Given the description of an element on the screen output the (x, y) to click on. 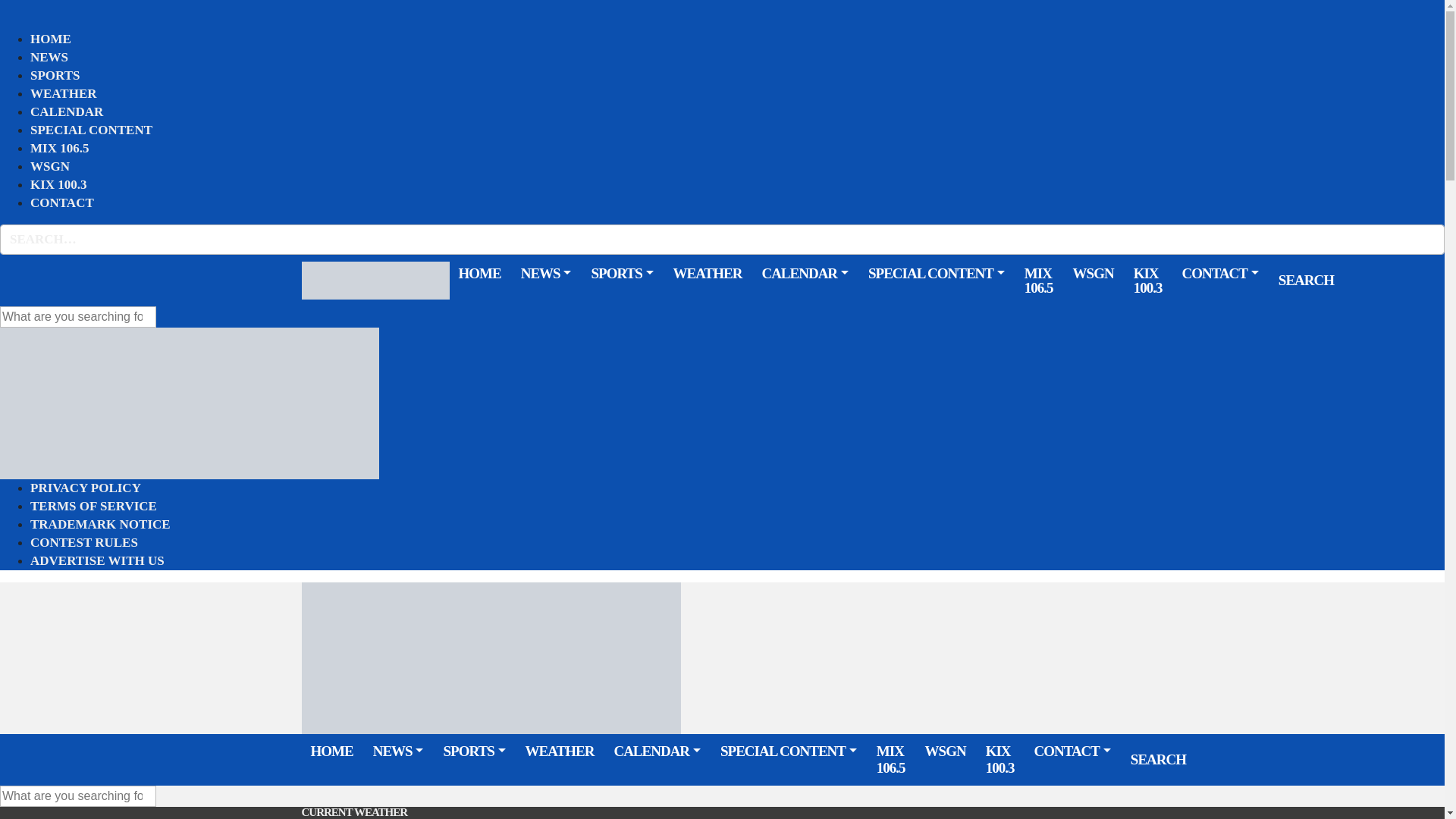
MIX 106.5 (59, 148)
SPORTS (55, 75)
NEWS (49, 56)
CALENDAR (66, 111)
WEATHER (63, 93)
Follow us on Facebook (1351, 279)
Follow us on X (1369, 279)
SPECIAL CONTENT (91, 129)
Search for: (77, 316)
Follow us on Instagram (1387, 279)
KIX 100.3 (58, 184)
HOME (50, 38)
Sylacauga News (375, 278)
Follow us on Vimeo (1406, 279)
CONTACT (62, 202)
